Given the description of an element on the screen output the (x, y) to click on. 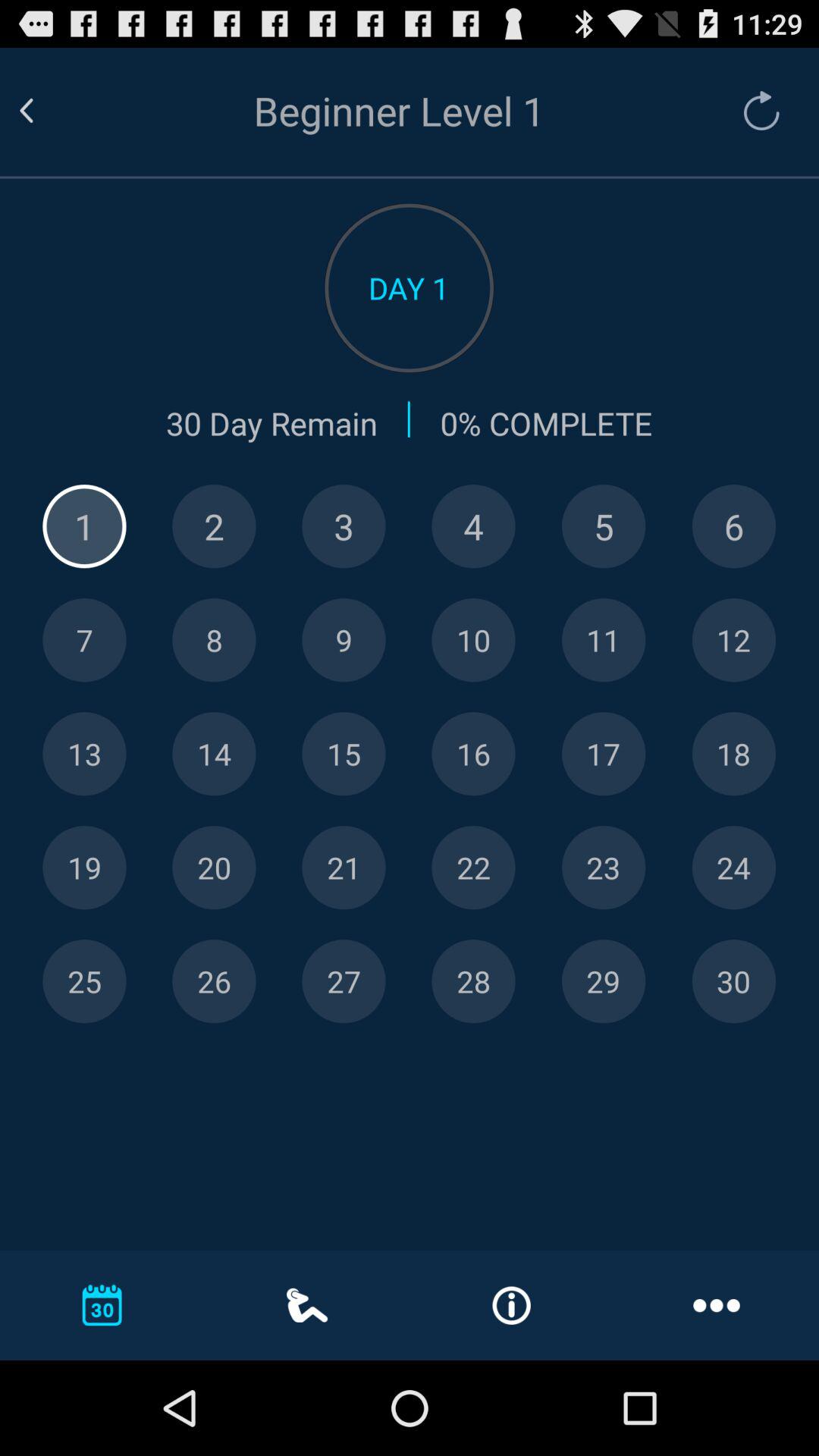
day 20 (213, 867)
